Given the description of an element on the screen output the (x, y) to click on. 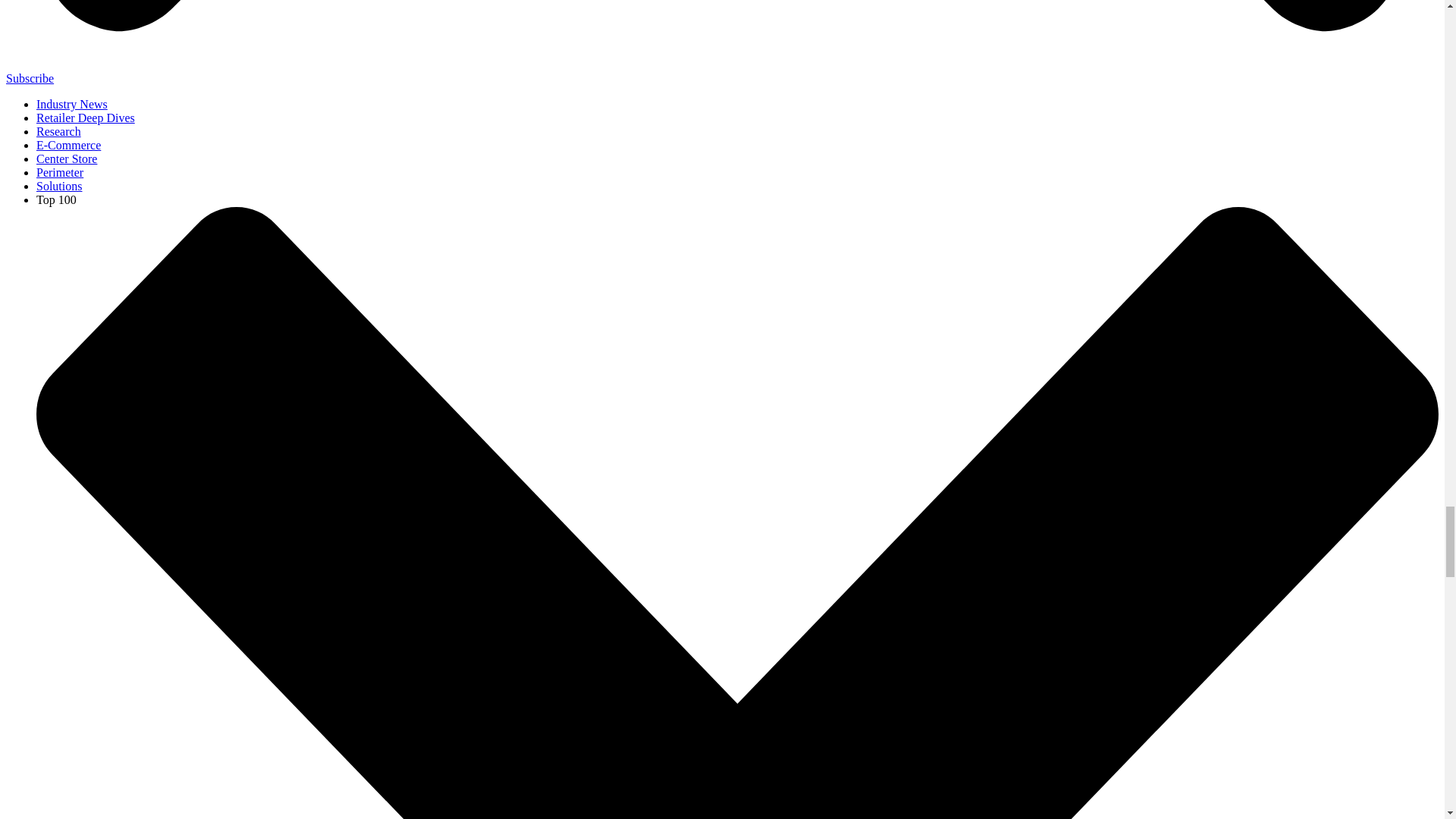
Perimeter (59, 172)
Center Store (66, 158)
E-Commerce (68, 144)
Subscribe (29, 78)
Research (58, 131)
Top 100 (56, 199)
Solutions (58, 185)
Industry News (71, 103)
Retailer Deep Dives (85, 117)
